Given the description of an element on the screen output the (x, y) to click on. 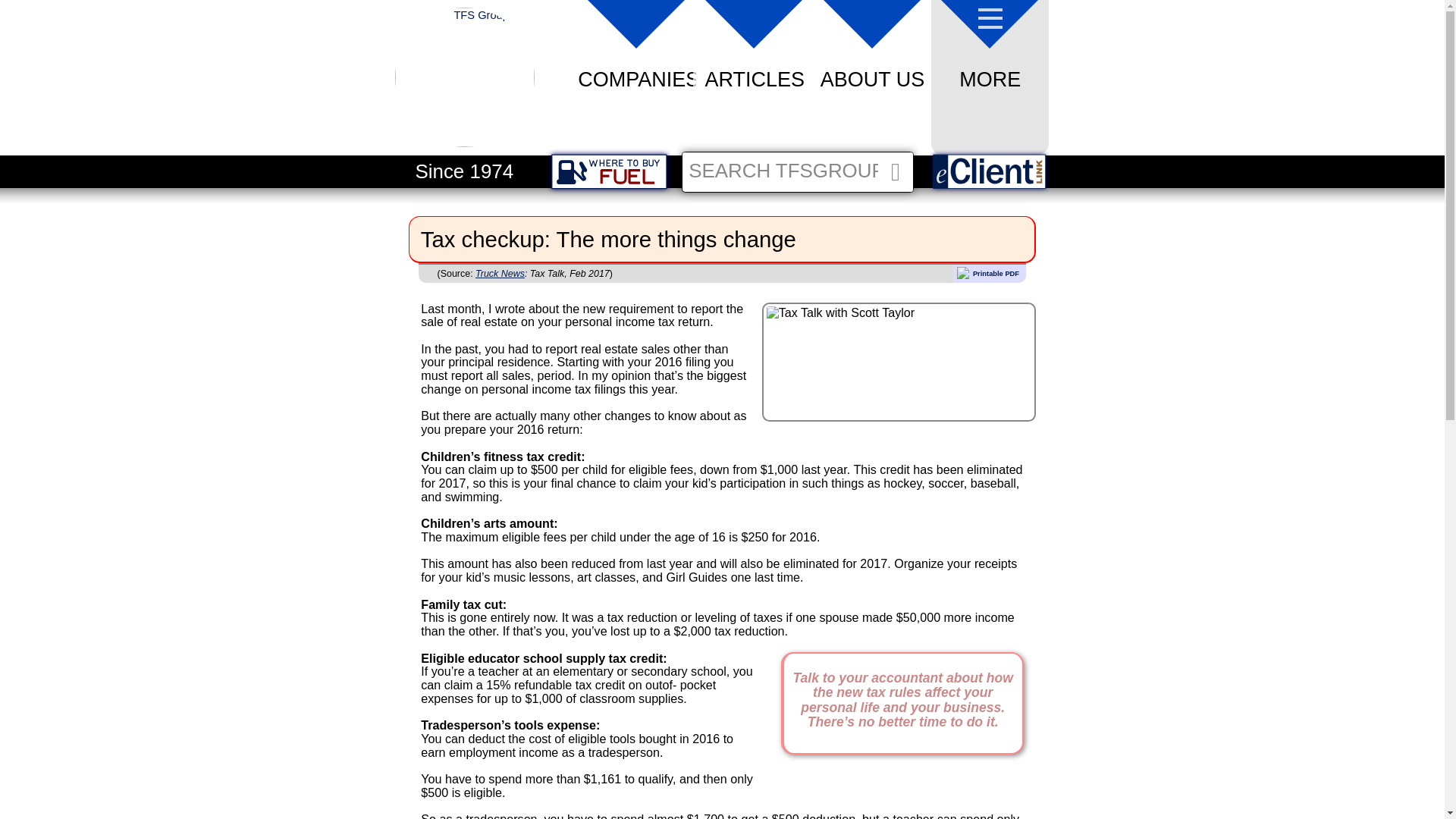
Truck News (500, 273)
TFS Group (464, 143)
TFS Group logo (464, 81)
Printable PDF (989, 273)
